Given the description of an element on the screen output the (x, y) to click on. 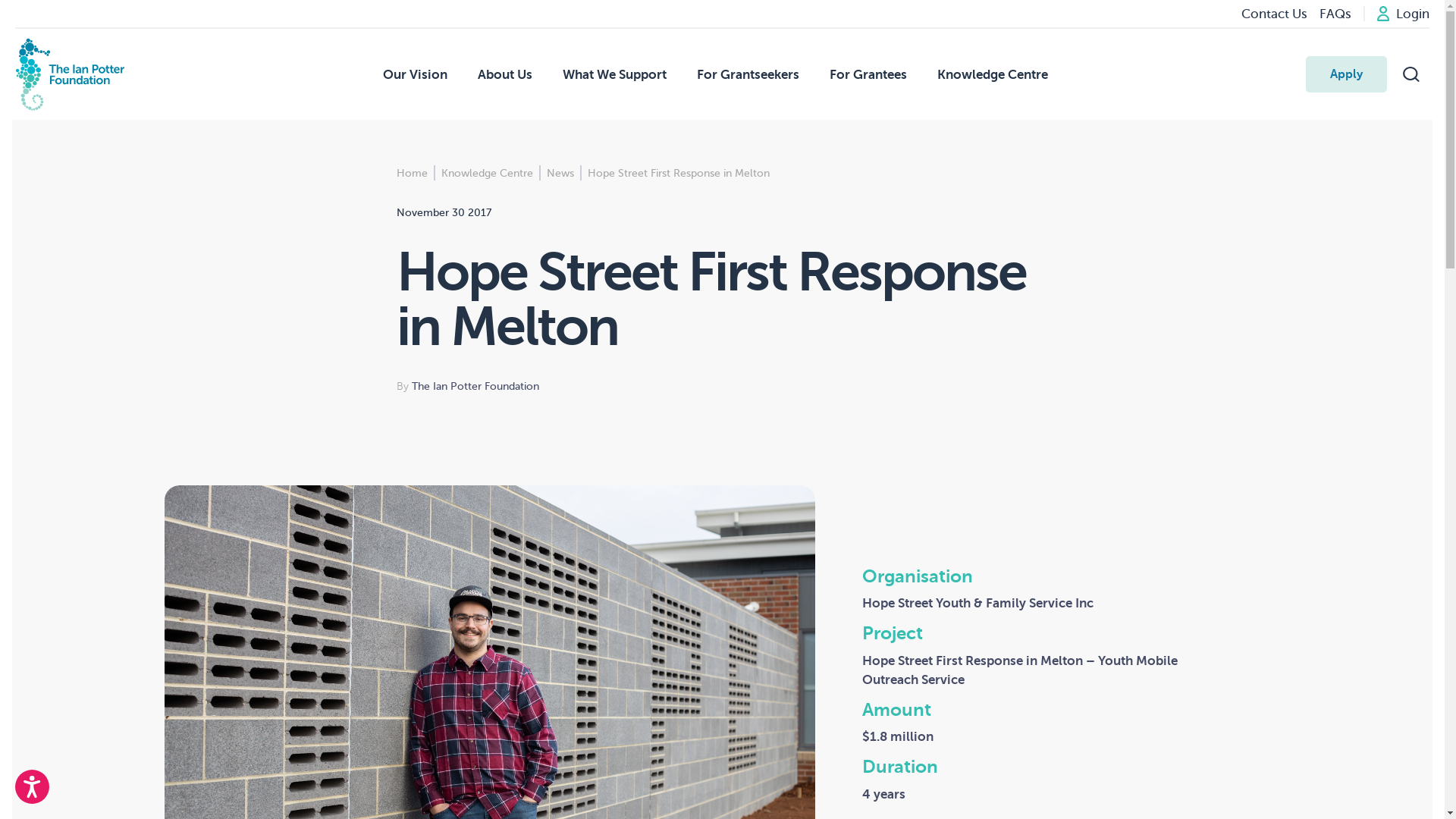
Home Element type: text (411, 172)
About Us Element type: text (504, 73)
What We Support Element type: text (614, 73)
For Grantseekers Element type: text (746, 73)
Hope Street First Response in Melton Element type: text (678, 172)
Our Vision Element type: text (414, 73)
Login Element type: text (1403, 13)
Knowledge Centre Element type: text (992, 73)
For Grantees Element type: text (868, 73)
FAQs Element type: text (1335, 13)
Apply Element type: text (1345, 74)
Contact Us Element type: text (1274, 13)
Knowledge Centre Element type: text (487, 172)
News Element type: text (560, 172)
